Given the description of an element on the screen output the (x, y) to click on. 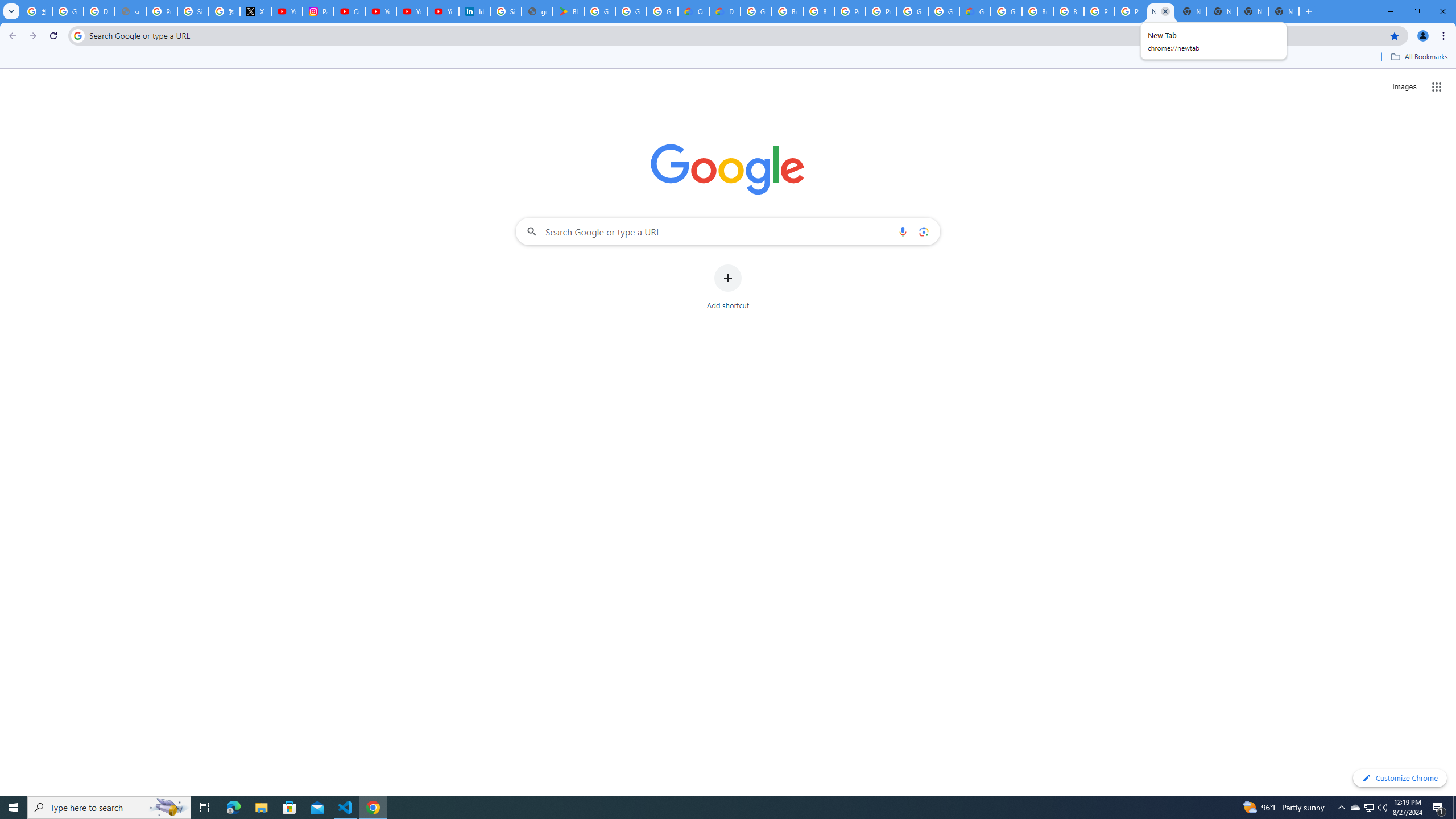
Browse Chrome as a guest - Computer - Google Chrome Help (1037, 11)
New Tab (1222, 11)
Bluey: Let's Play! - Apps on Google Play (568, 11)
Google Workspace - Specific Terms (631, 11)
YouTube Culture & Trends - YouTube Top 10, 2021 (411, 11)
Browse Chrome as a guest - Computer - Google Chrome Help (787, 11)
